Given the description of an element on the screen output the (x, y) to click on. 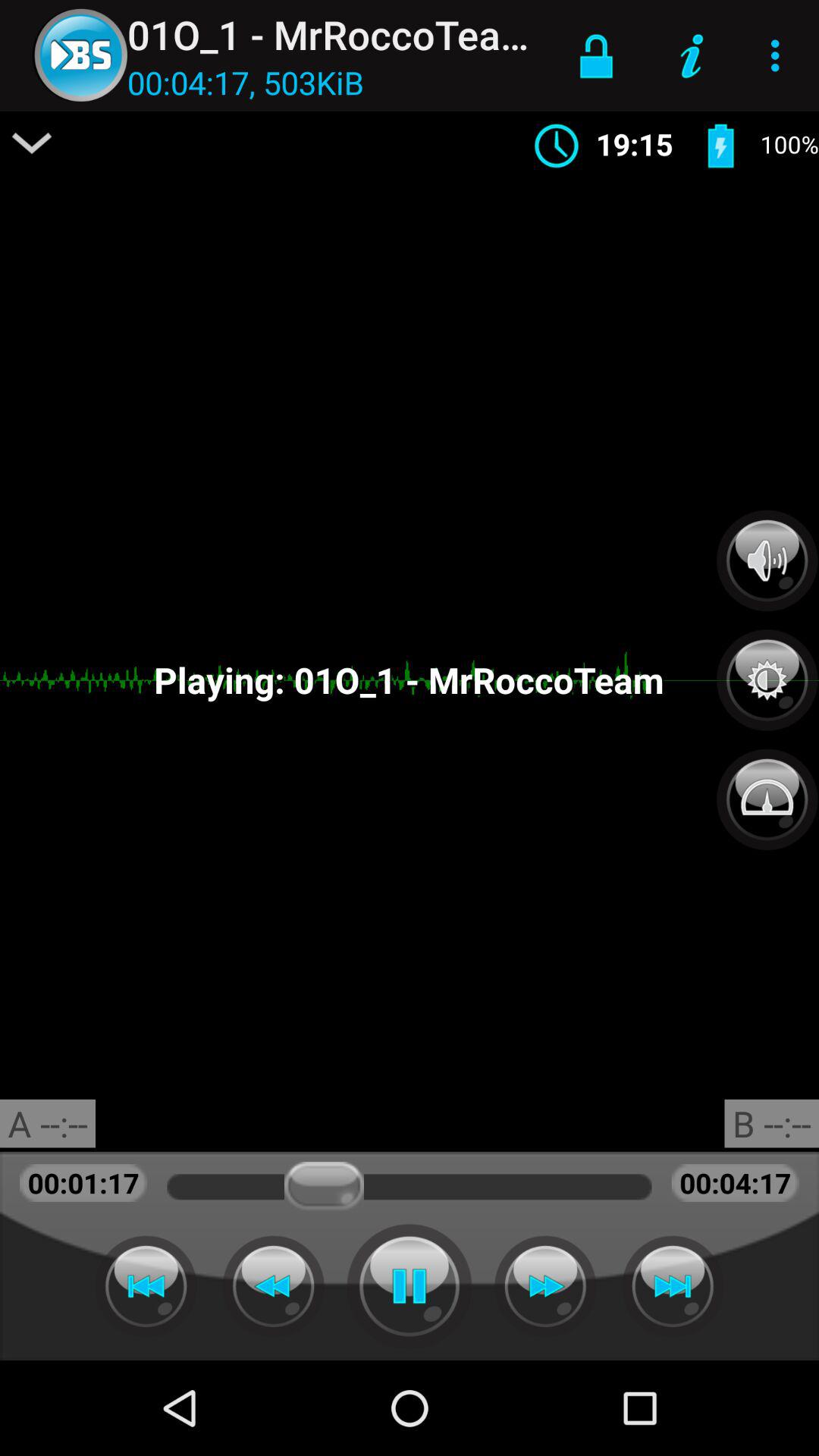
skip to next file (672, 1286)
